Given the description of an element on the screen output the (x, y) to click on. 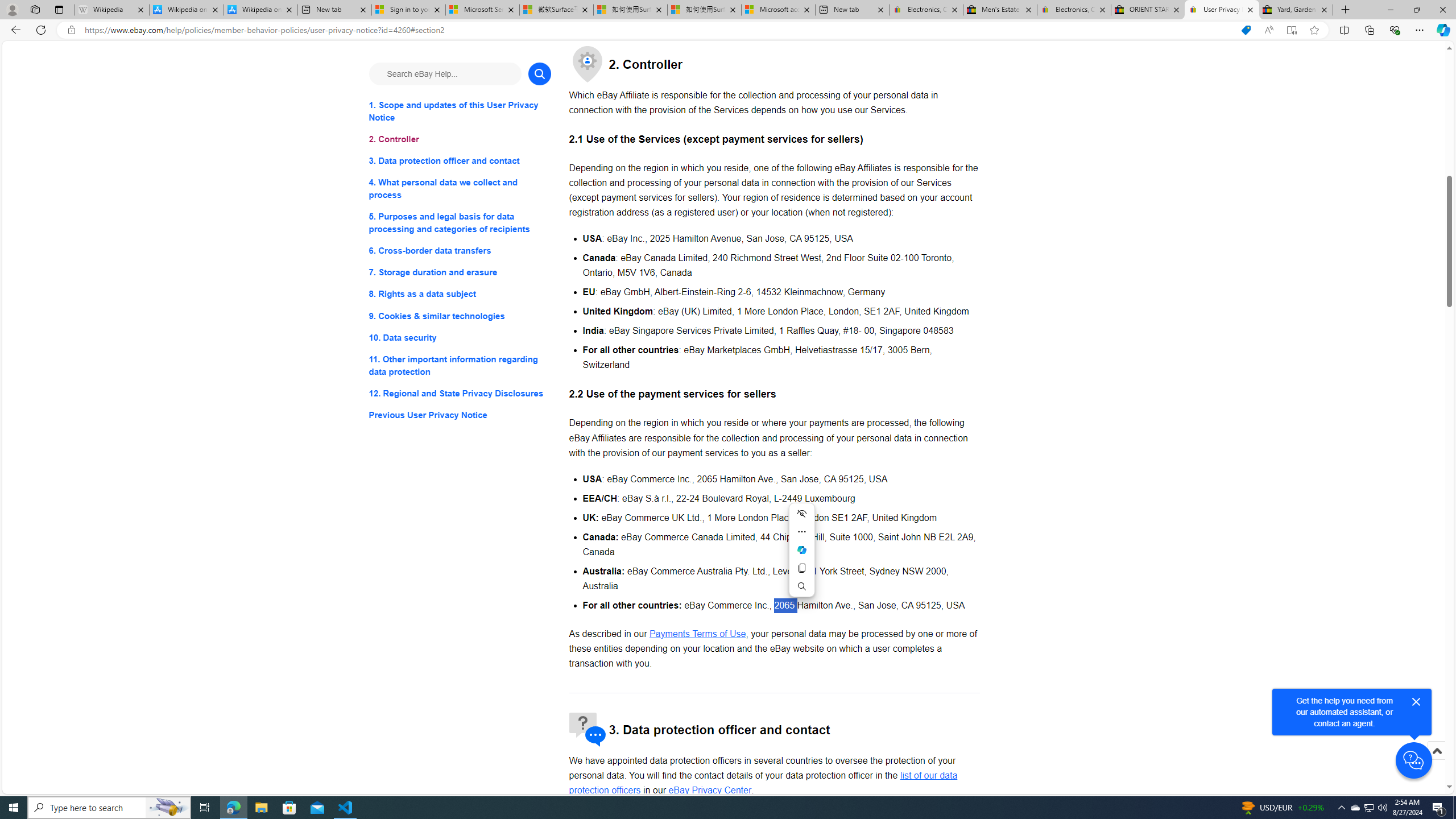
10. Data security (459, 336)
1. Scope and updates of this User Privacy Notice (459, 111)
eBay Privacy Center - opens in new window or tab (709, 790)
12. Regional and State Privacy Disclosures (459, 392)
Scroll to top (1435, 762)
